Given the description of an element on the screen output the (x, y) to click on. 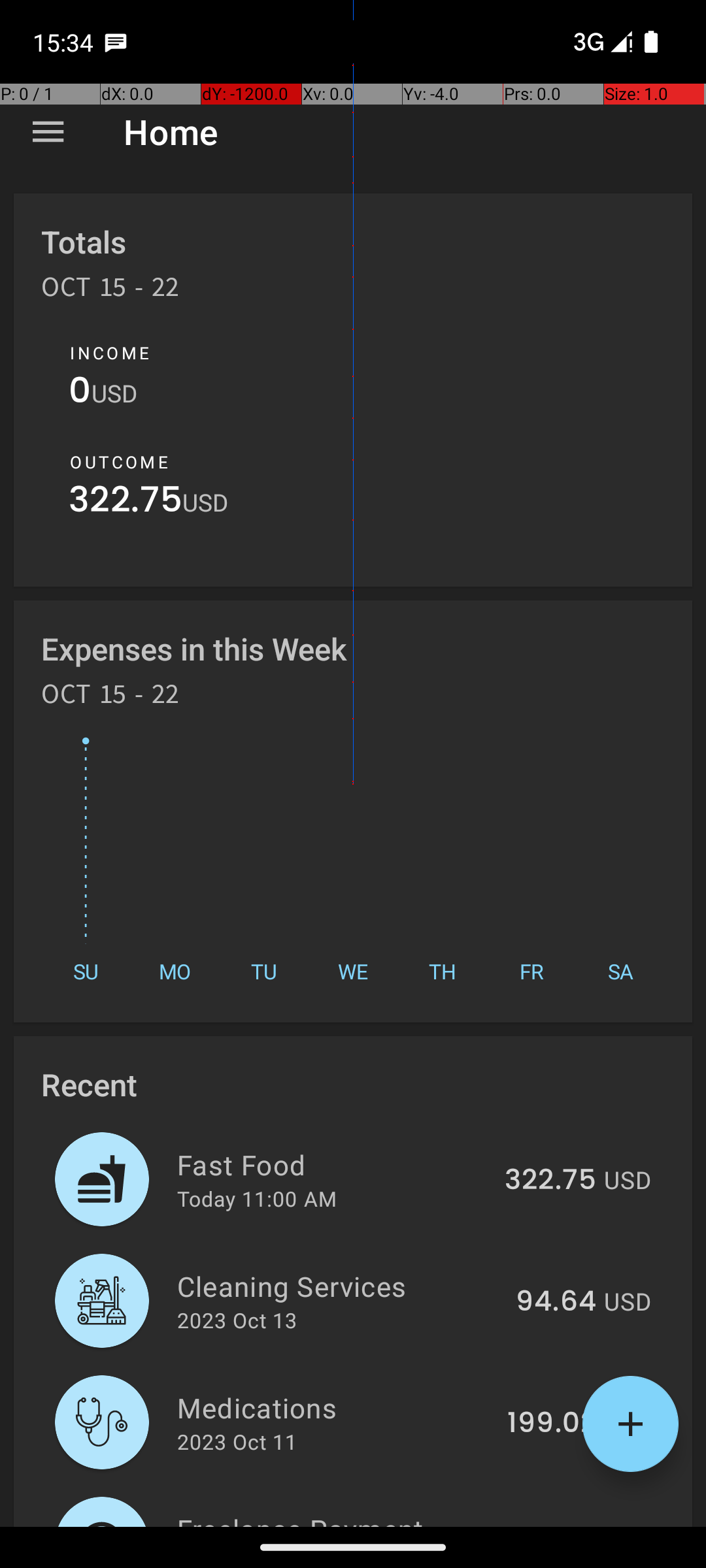
322.75 Element type: android.widget.TextView (125, 502)
Fast Food Element type: android.widget.TextView (333, 1164)
Today 11:00 AM Element type: android.widget.TextView (256, 1198)
Cleaning Services Element type: android.widget.TextView (338, 1285)
2023 Oct 13 Element type: android.widget.TextView (236, 1320)
94.64 Element type: android.widget.TextView (555, 1301)
Medications Element type: android.widget.TextView (334, 1407)
2023 Oct 11 Element type: android.widget.TextView (236, 1441)
199.02 Element type: android.widget.TextView (551, 1423)
Freelance Payment Element type: android.widget.TextView (333, 1518)
237.82 Element type: android.widget.TextView (550, 1524)
